Given the description of an element on the screen output the (x, y) to click on. 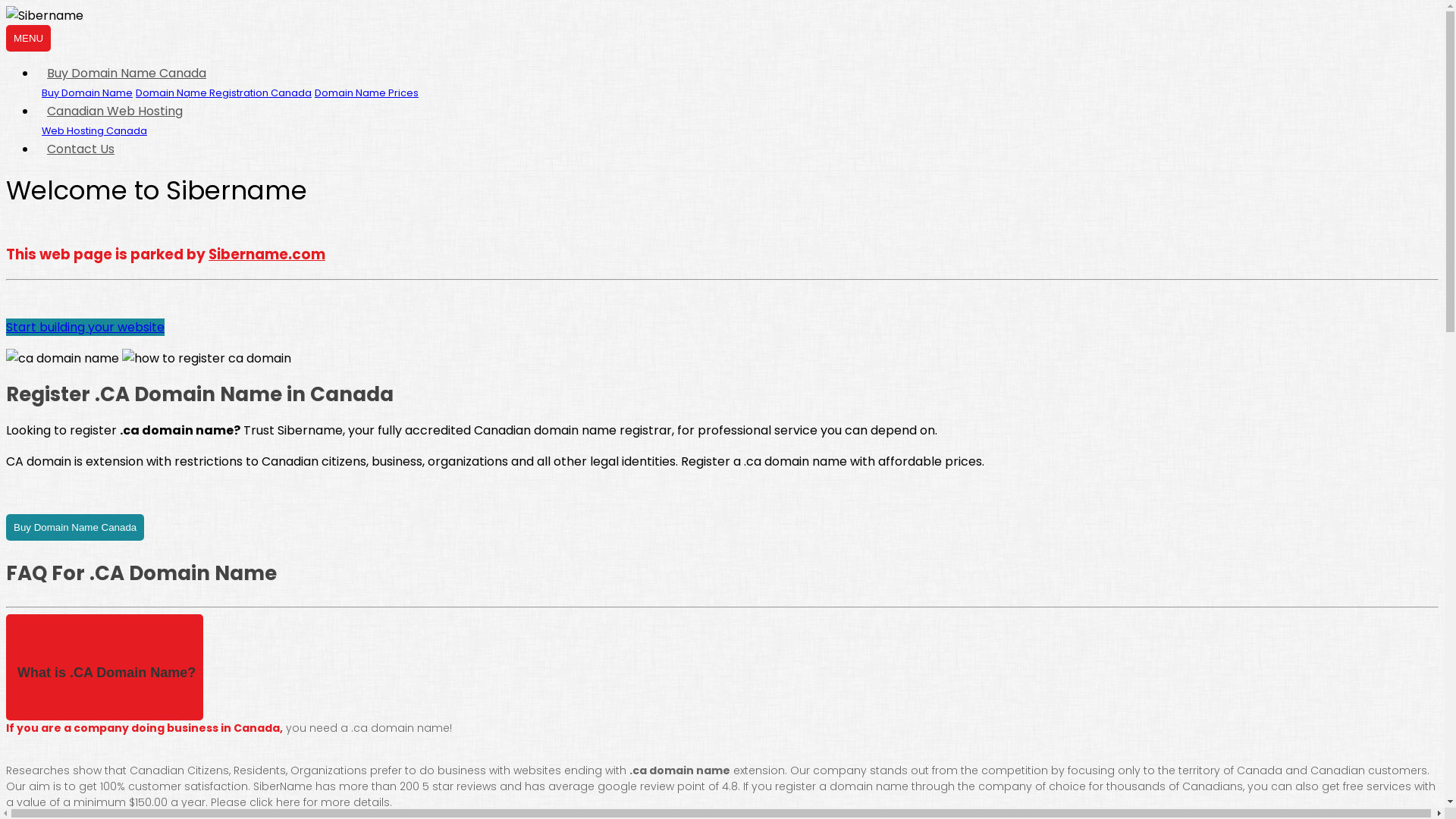
Domain Name Registration Canada Element type: text (223, 92)
Buy Domain Name Canada Element type: text (75, 526)
What is .CA Domain Name? Element type: text (104, 667)
Start building your website Element type: text (85, 326)
Buy Domain Name Canada Element type: text (126, 73)
Buy Domain Name Element type: text (86, 92)
Domain Name Prices Element type: text (366, 92)
MENU Element type: text (28, 38)
Canadian Web Hosting Element type: text (114, 111)
Buy Domain Name Canada Element type: text (75, 527)
Web Hosting Canada Element type: text (94, 130)
Contact Us Element type: text (80, 148)
